Given the description of an element on the screen output the (x, y) to click on. 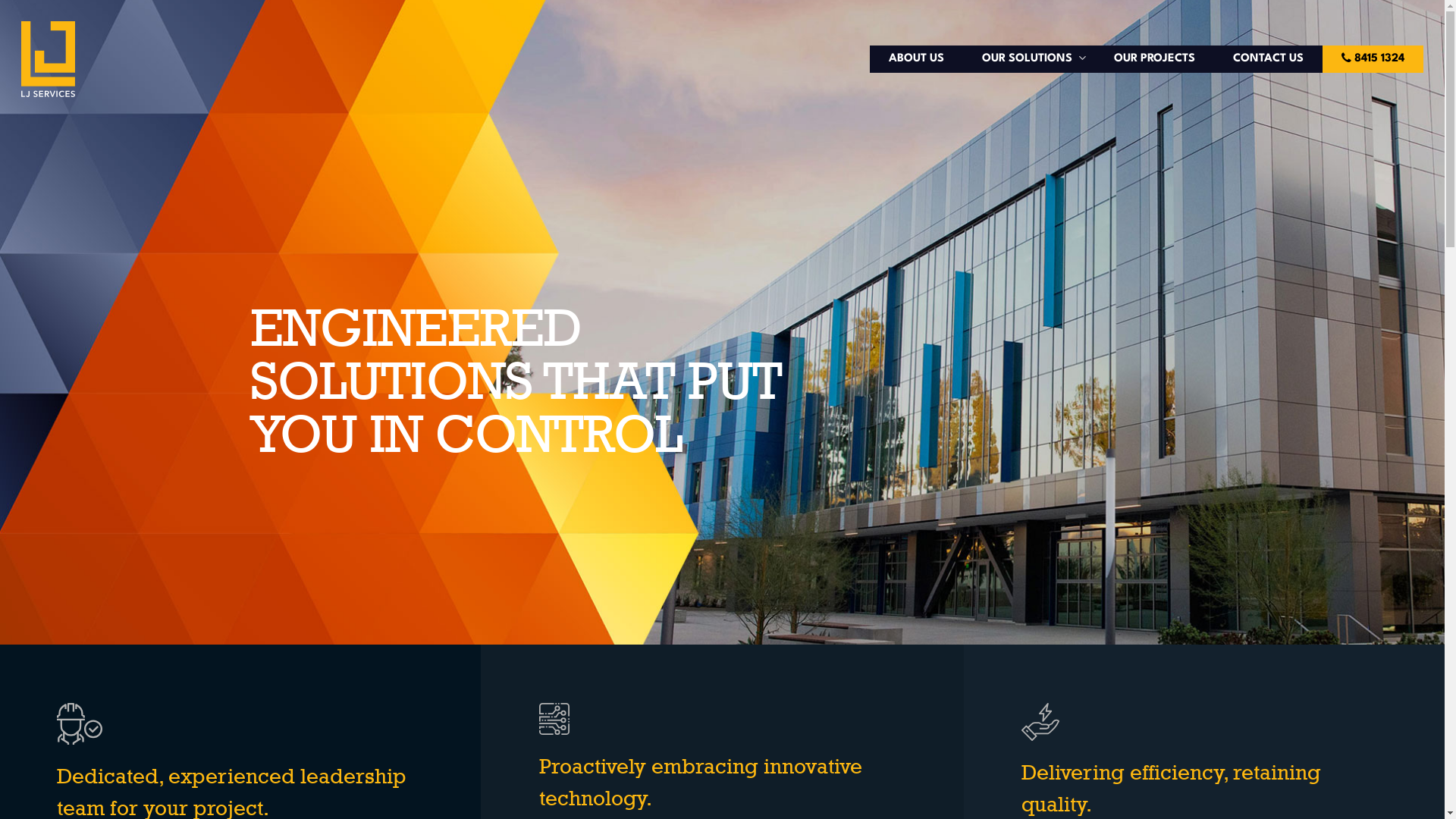
8415 1324 Element type: text (1372, 58)
OUR SOLUTIONS Element type: text (1029, 58)
CONTACT US Element type: text (1268, 58)
ABOUT US Element type: text (916, 58)
OUR PROJECTS Element type: text (1154, 58)
